Given the description of an element on the screen output the (x, y) to click on. 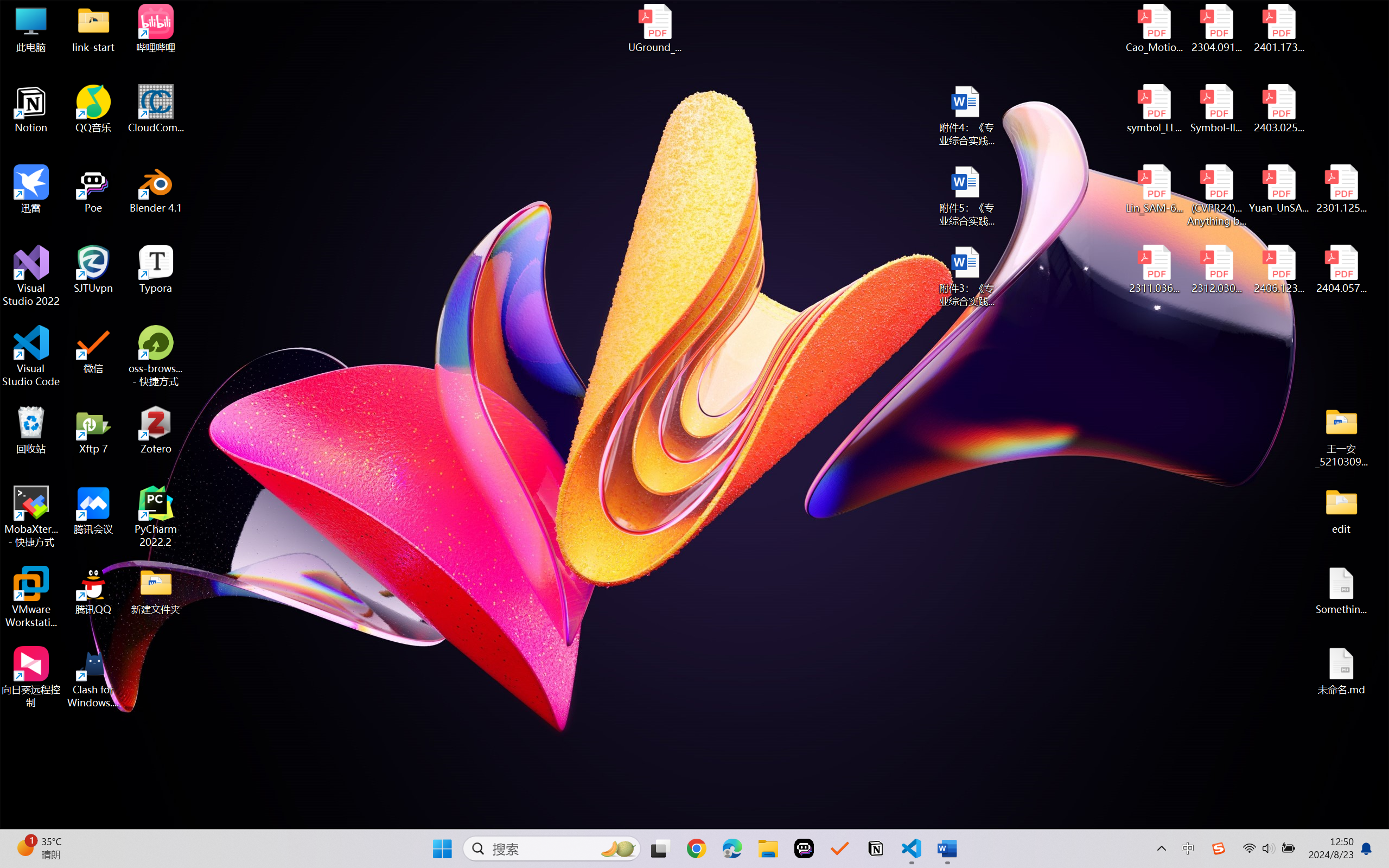
PyCharm 2022.2 (156, 516)
edit (1340, 510)
Blender 4.1 (156, 189)
